Given the description of an element on the screen output the (x, y) to click on. 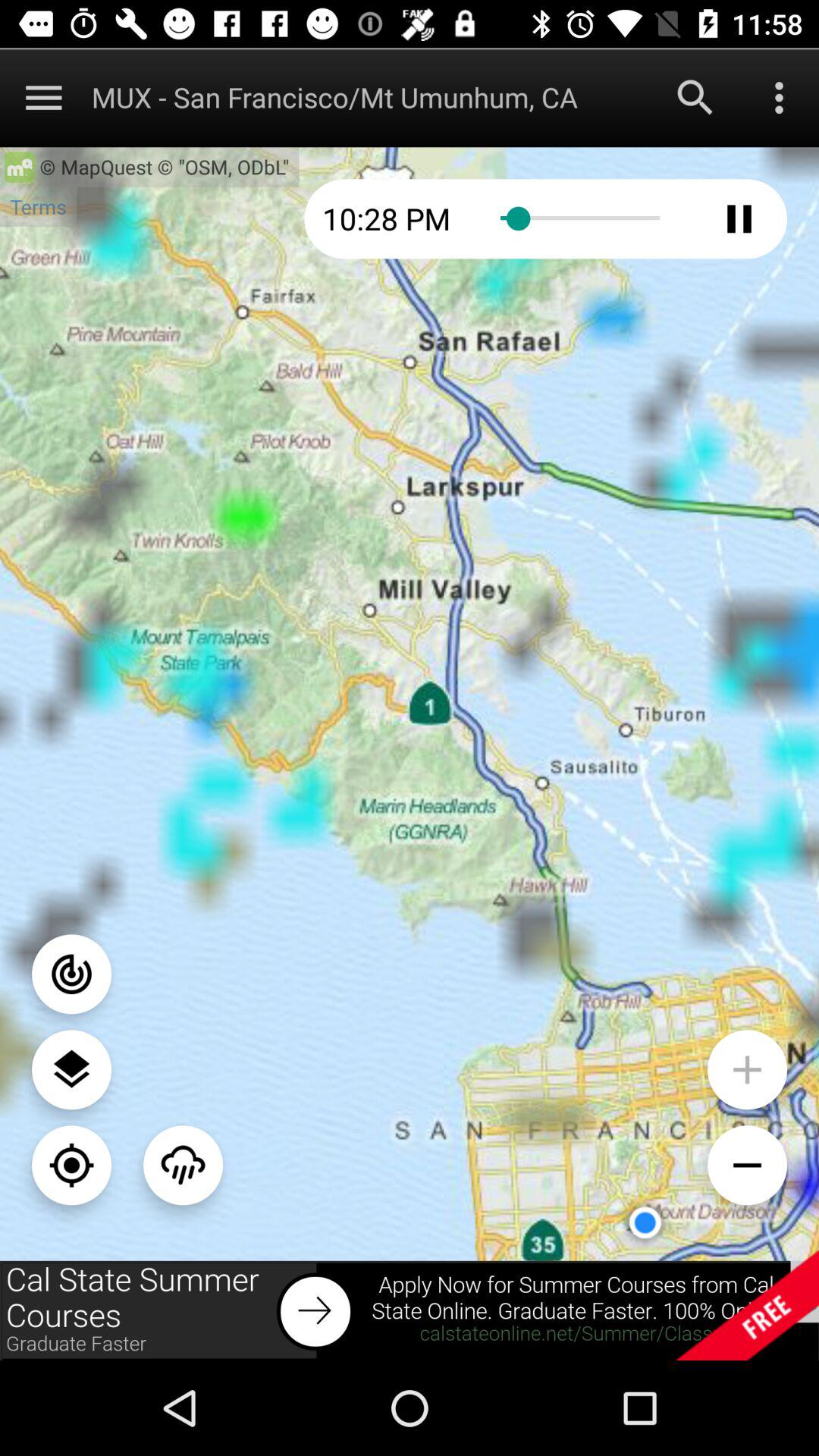
toggle weather view (182, 1165)
